Given the description of an element on the screen output the (x, y) to click on. 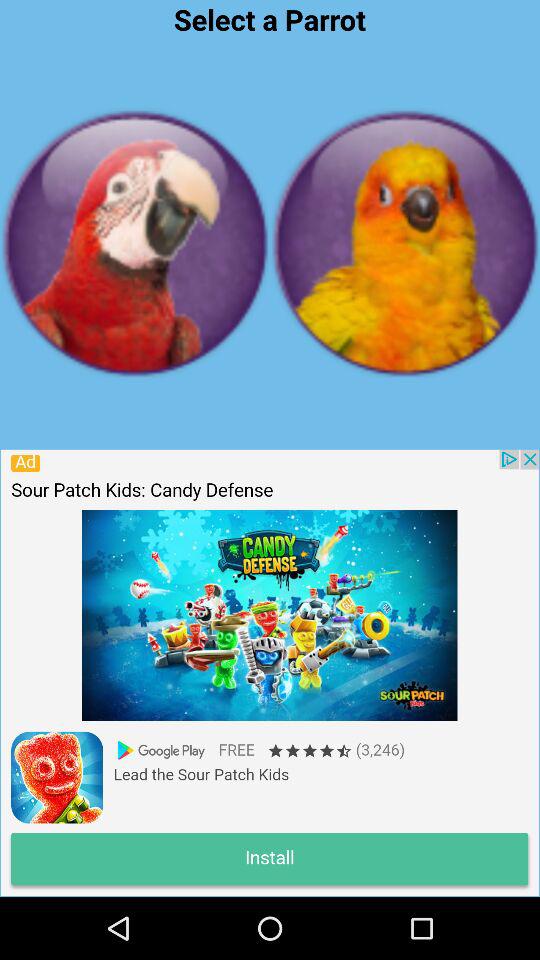
profile the option (135, 243)
